Given the description of an element on the screen output the (x, y) to click on. 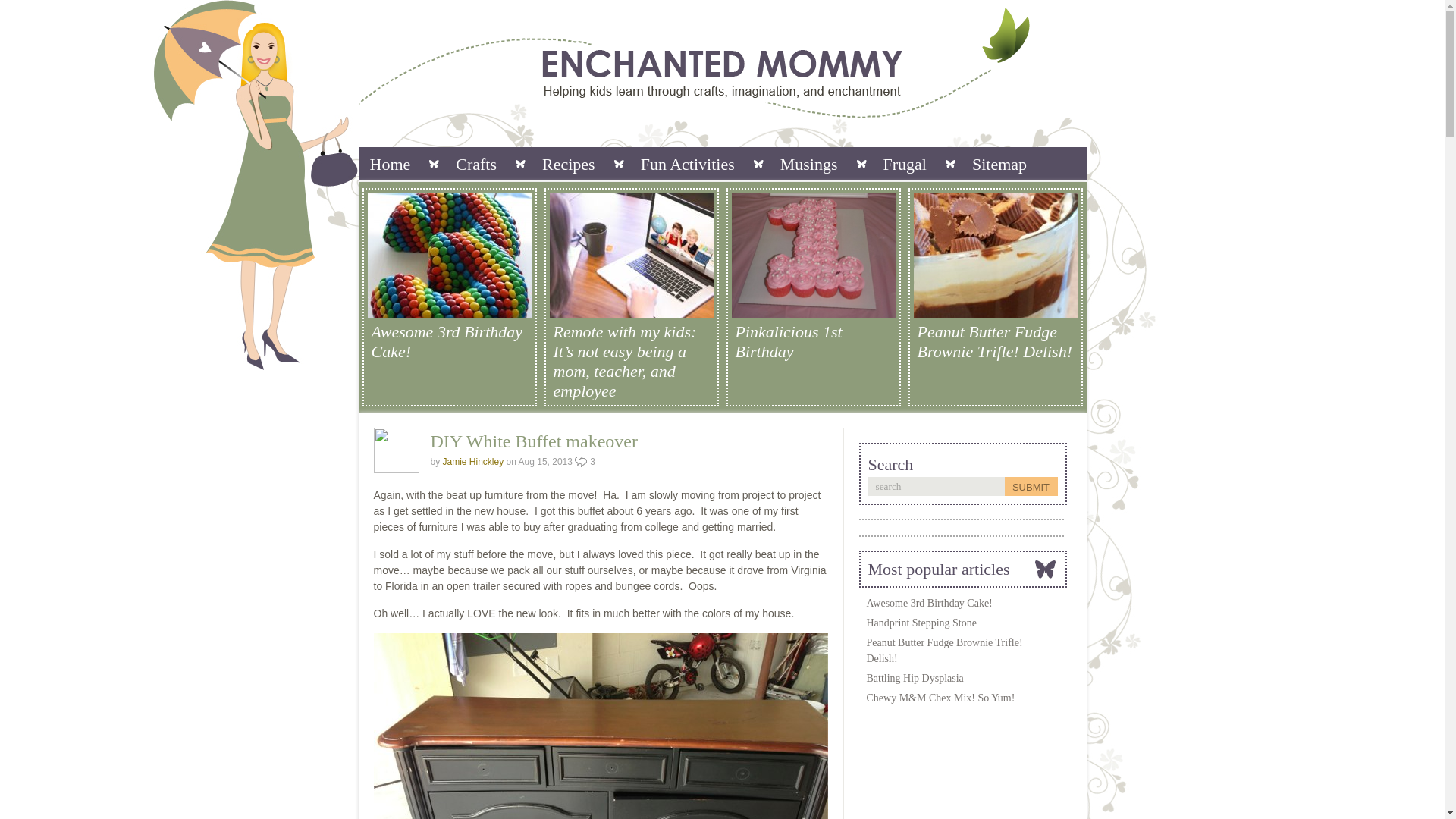
Awesome 3rd Birthday Cake! (928, 603)
Submit (1030, 486)
Crafts (475, 163)
Peanut Butter Fudge Brownie Trifle! Delish! (944, 650)
Awesome 3rd Birthday Cake! (449, 341)
3 (585, 461)
Home (389, 163)
Handprint Stepping Stone (920, 622)
Jamie Hinckley (472, 461)
Musings (809, 163)
